Given the description of an element on the screen output the (x, y) to click on. 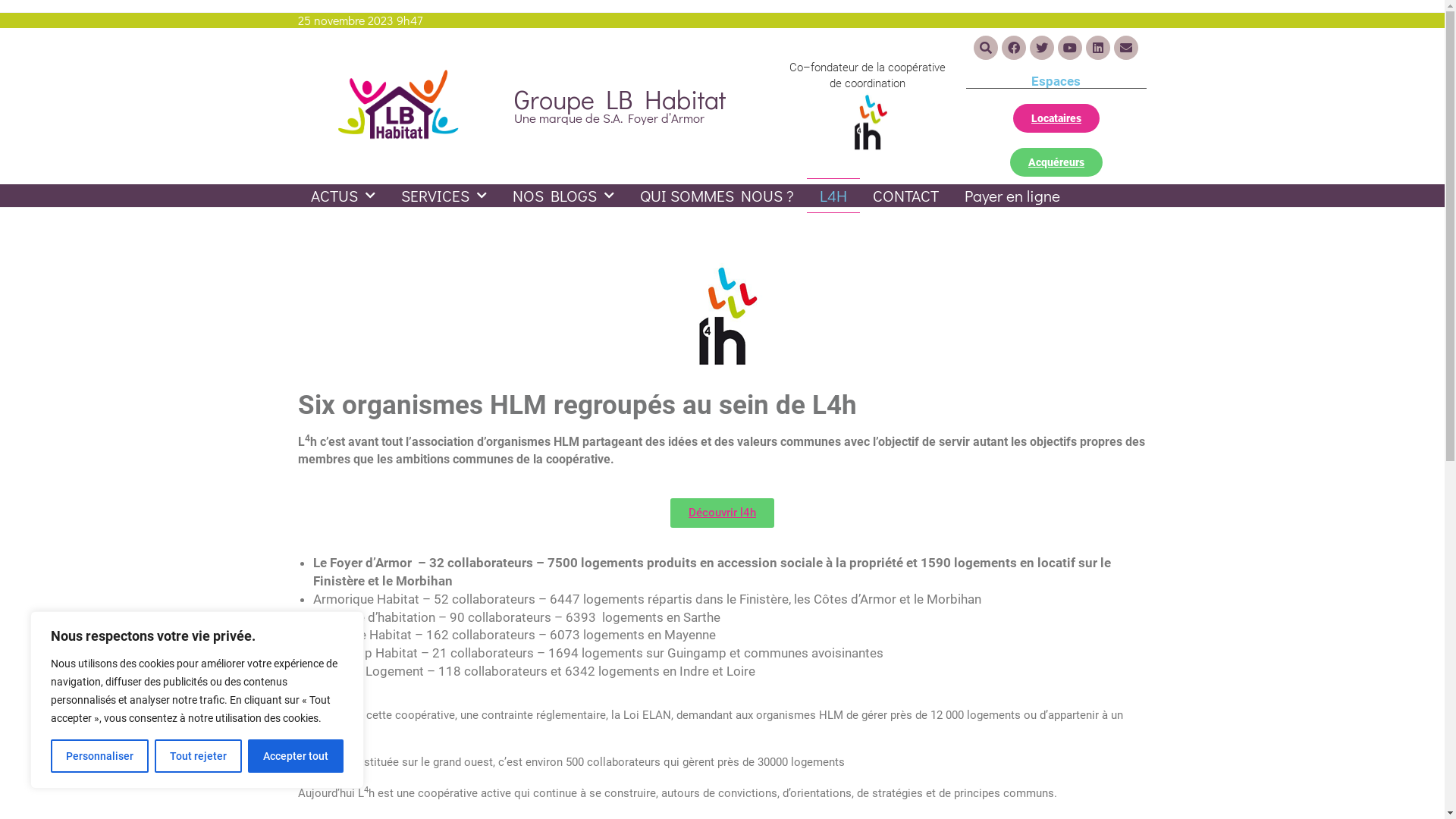
Payer en ligne Element type: text (1011, 195)
Personnaliser Element type: text (99, 755)
NOS BLOGS Element type: text (562, 195)
Accepter tout Element type: text (295, 755)
QUI SOMMES NOUS ? Element type: text (716, 195)
ACTUS Element type: text (342, 195)
L4H Element type: text (832, 195)
Tout rejeter Element type: text (197, 755)
SERVICES Element type: text (443, 195)
Locataires Element type: text (1056, 117)
CONTACT Element type: text (905, 195)
